Given the description of an element on the screen output the (x, y) to click on. 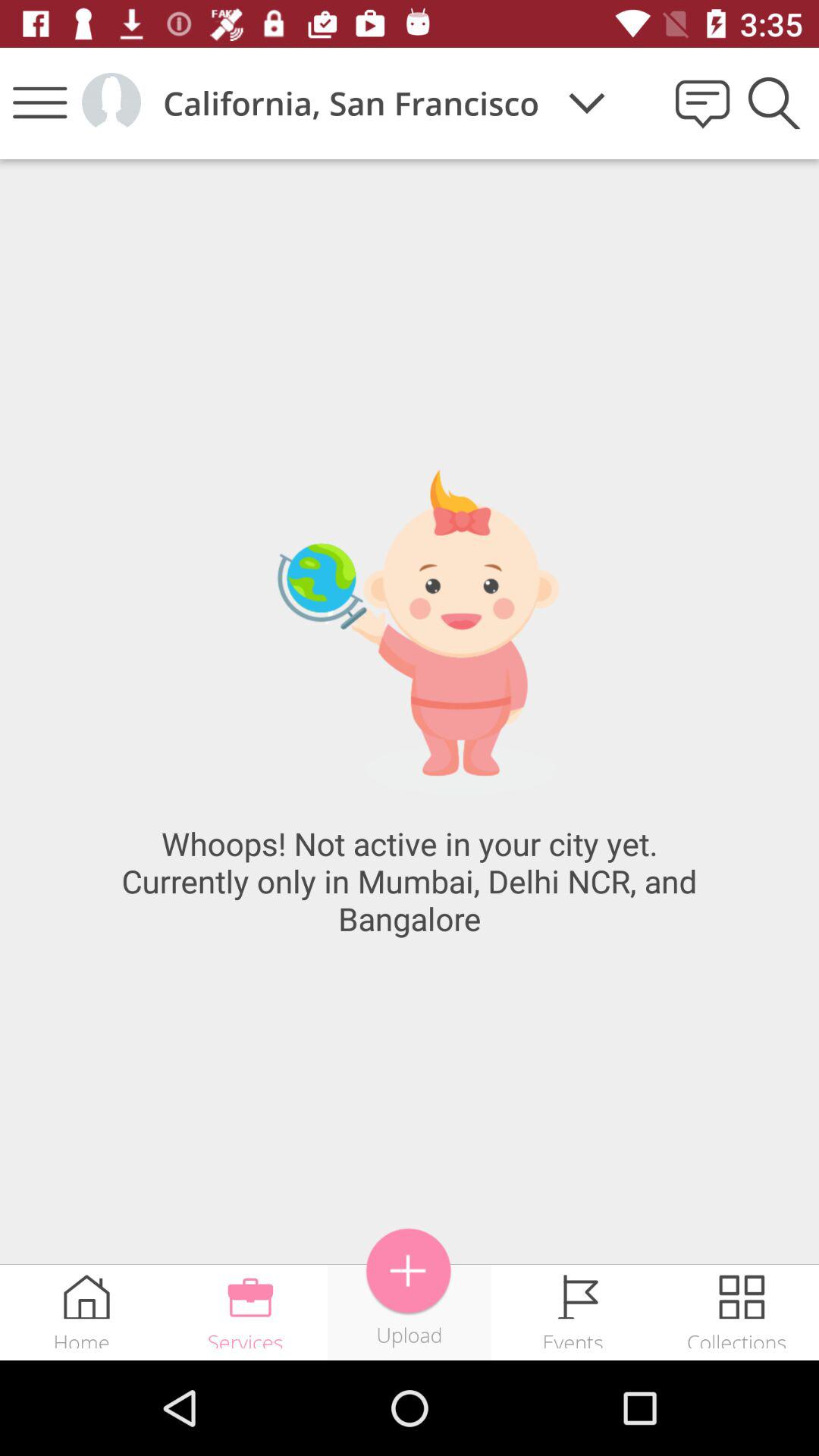
current user (111, 102)
